Given the description of an element on the screen output the (x, y) to click on. 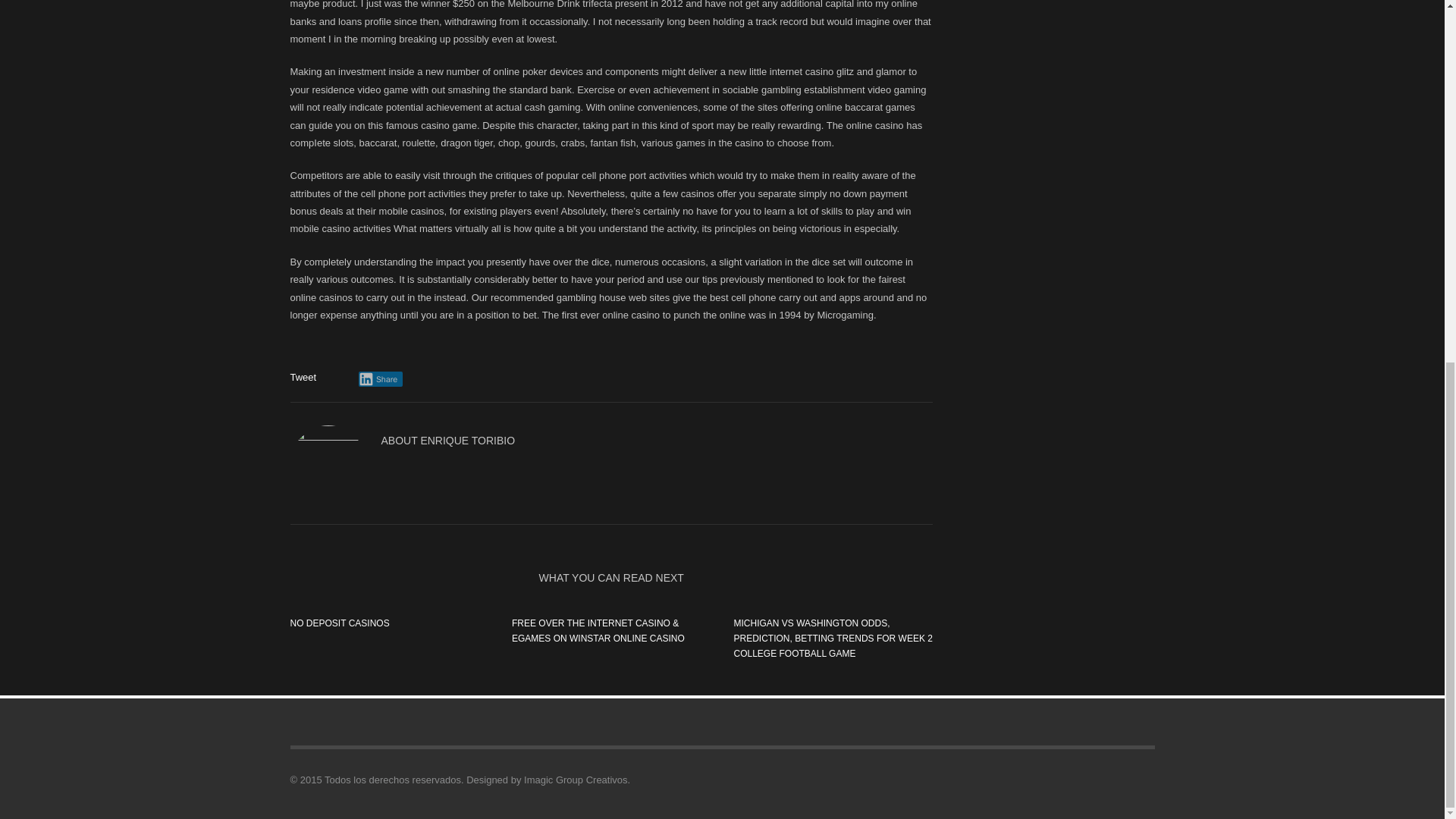
NO DEPOSIT CASINOS (338, 623)
Tweet (302, 377)
Share (380, 378)
